Given the description of an element on the screen output the (x, y) to click on. 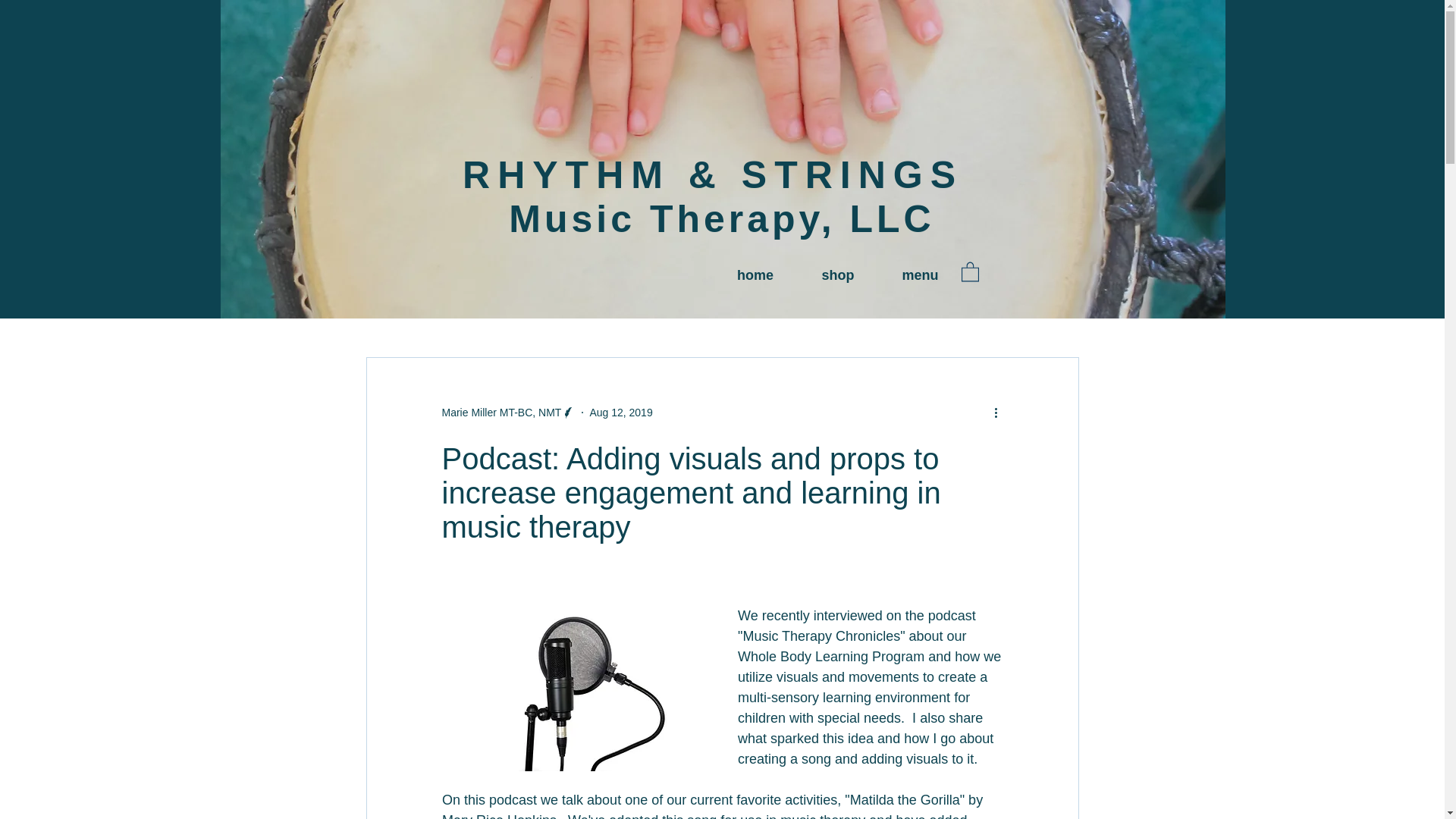
Marie Miller MT-BC, NMT (508, 412)
Marie Miller MT-BC, NMT (500, 412)
home (755, 275)
shop (837, 275)
Aug 12, 2019 (620, 412)
